Given the description of an element on the screen output the (x, y) to click on. 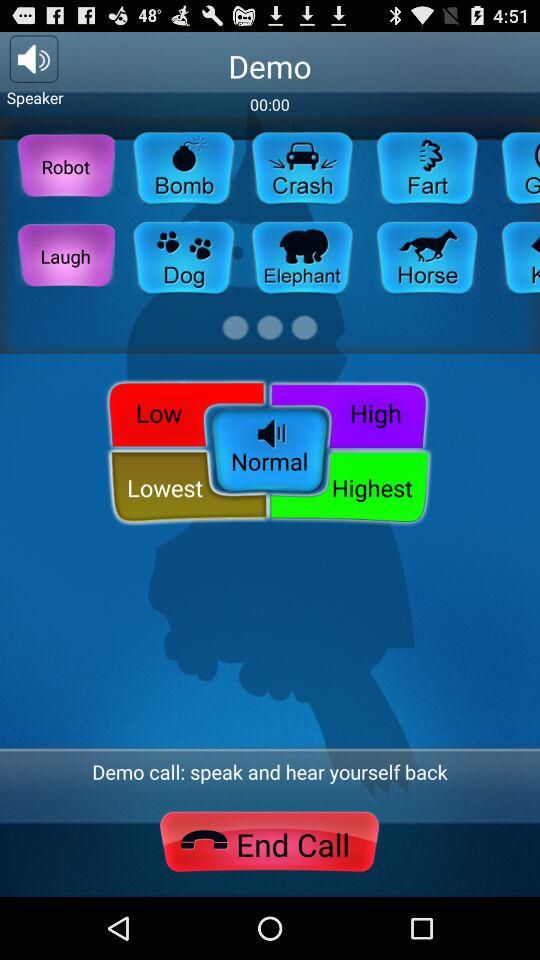
open button to the left of high item (181, 412)
